Given the description of an element on the screen output the (x, y) to click on. 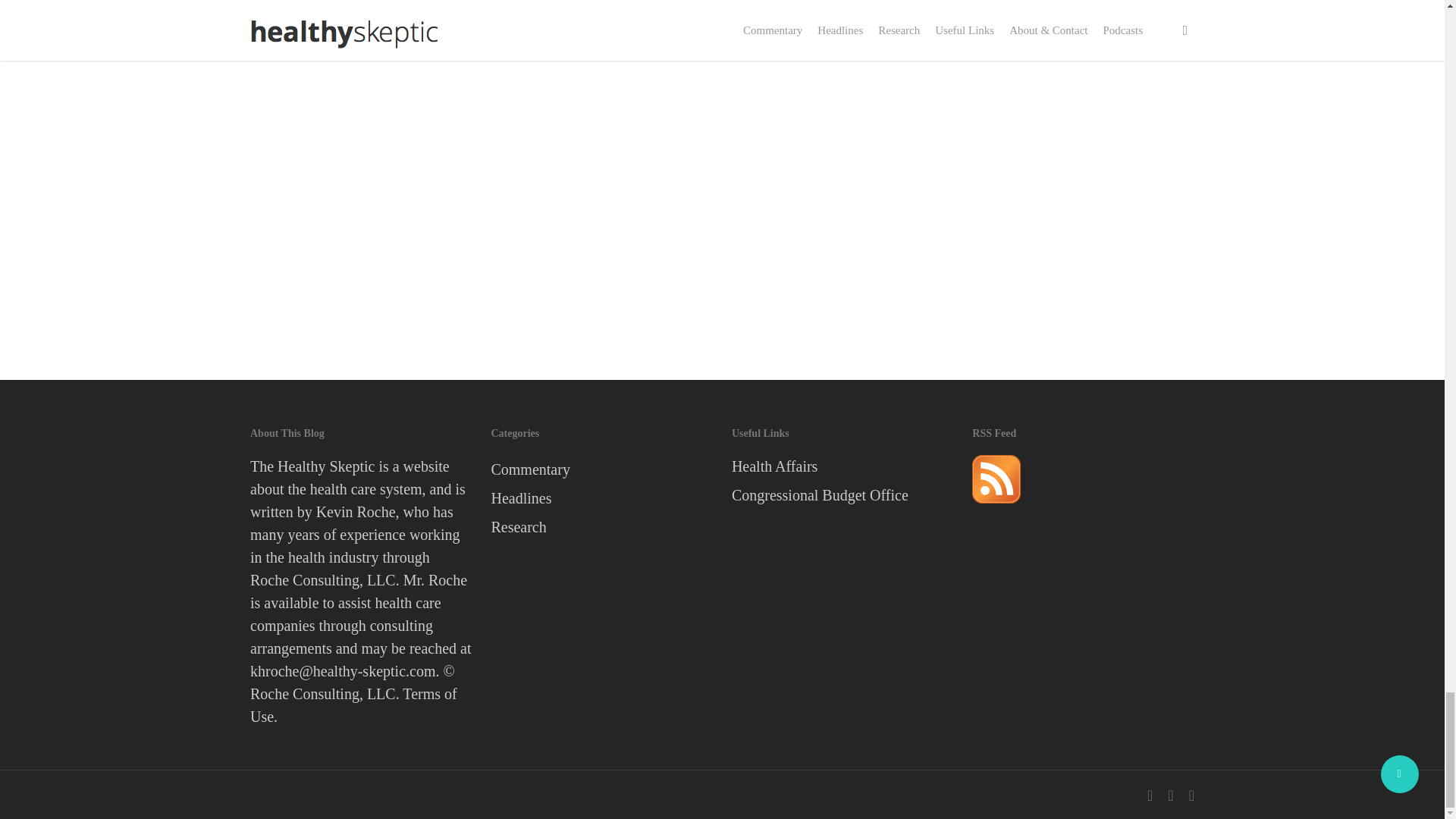
Subscribe to posts (996, 509)
